Given the description of an element on the screen output the (x, y) to click on. 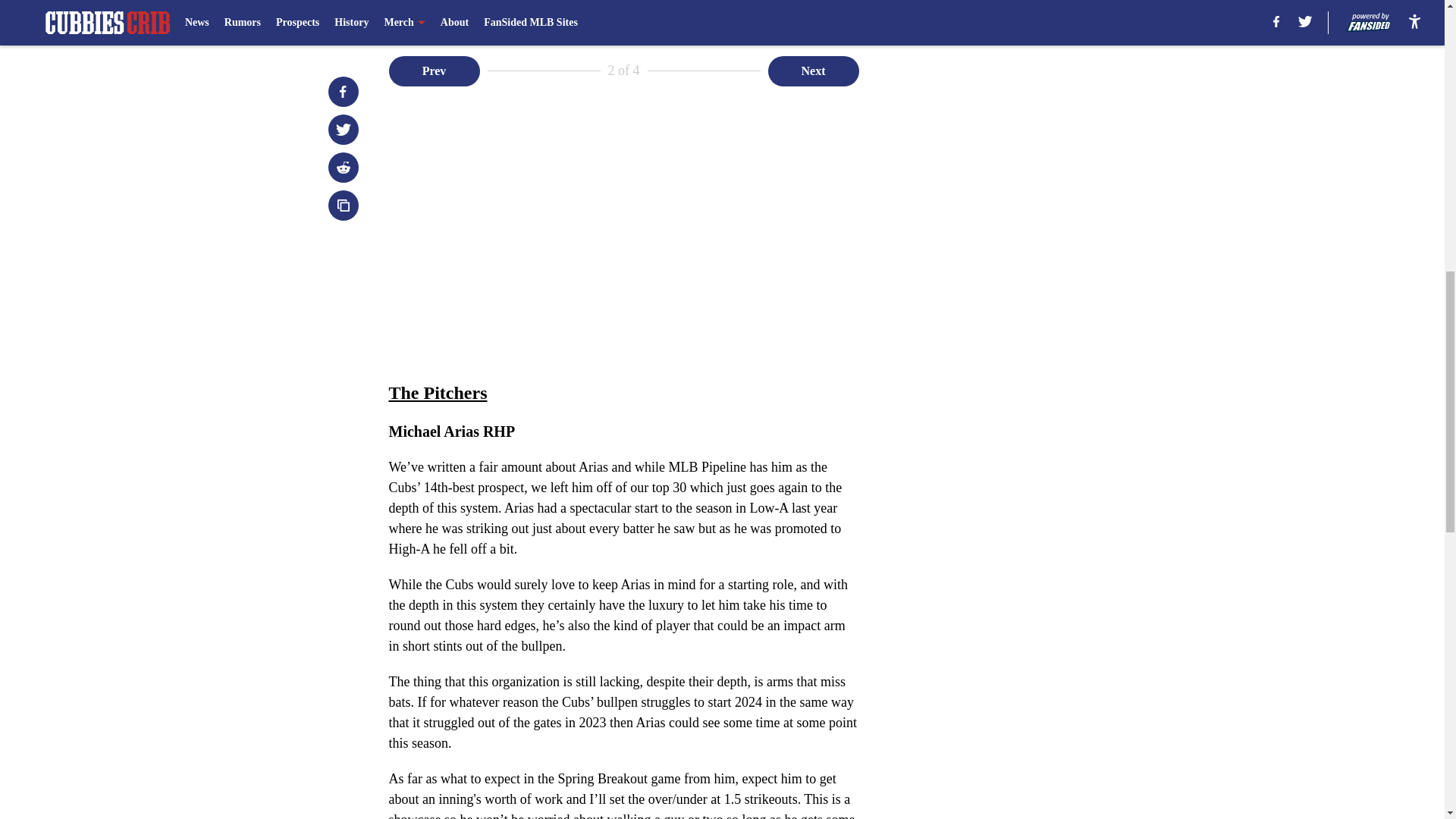
Next (813, 71)
Prev (433, 71)
